Given the description of an element on the screen output the (x, y) to click on. 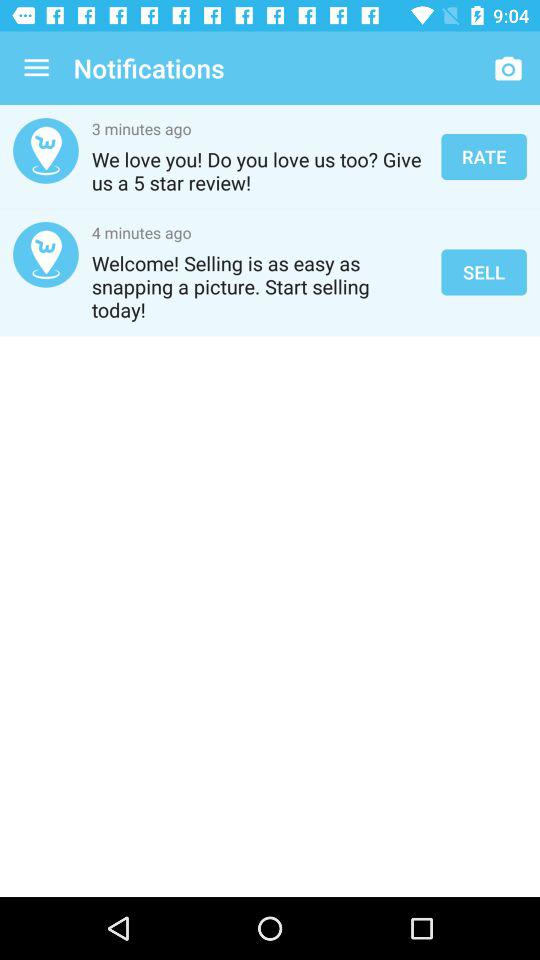
select rate icon (483, 156)
